Given the description of an element on the screen output the (x, y) to click on. 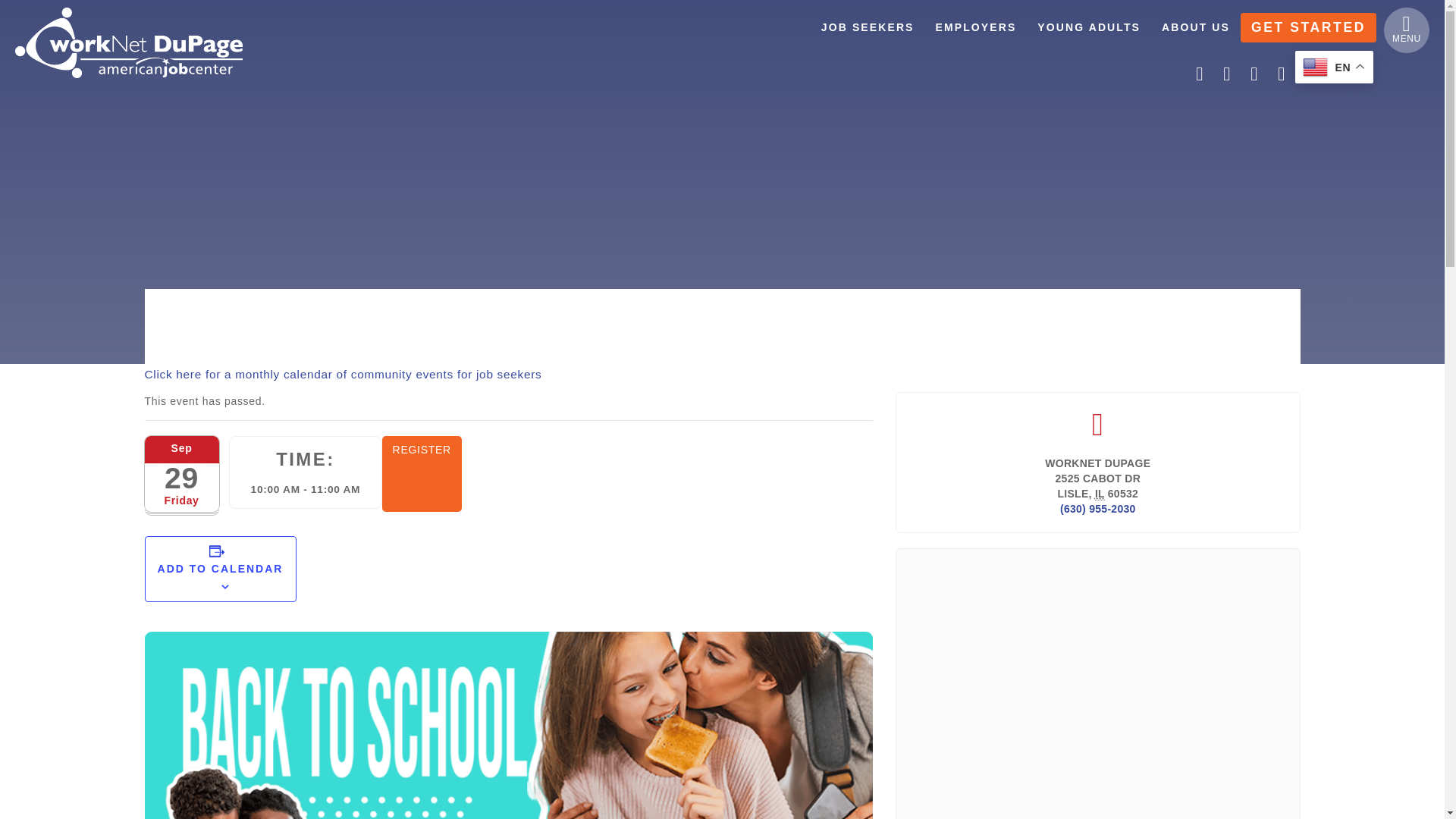
workNet DuPage Career Center (128, 42)
